Given the description of an element on the screen output the (x, y) to click on. 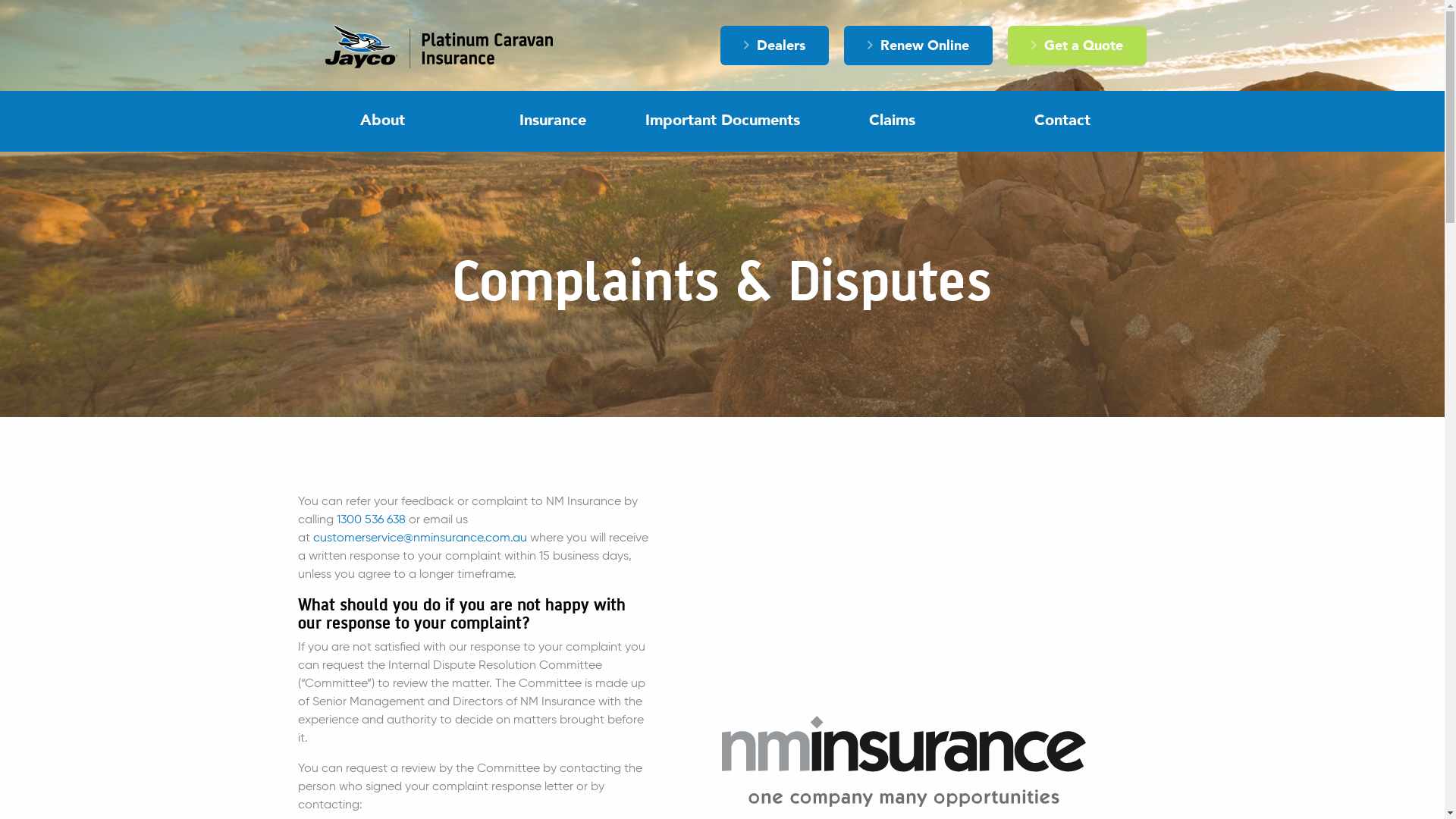
Contact Element type: text (1061, 121)
Insurance Element type: text (552, 121)
Renew Online Element type: text (918, 45)
About Element type: text (382, 121)
customerservice@nminsurance.com.au Element type: text (419, 538)
Get a Quote Element type: text (1076, 45)
Important Documents Element type: text (721, 121)
Dealers Element type: text (774, 45)
Claims Element type: text (891, 121)
1300 536 638 Element type: text (370, 520)
